Given the description of an element on the screen output the (x, y) to click on. 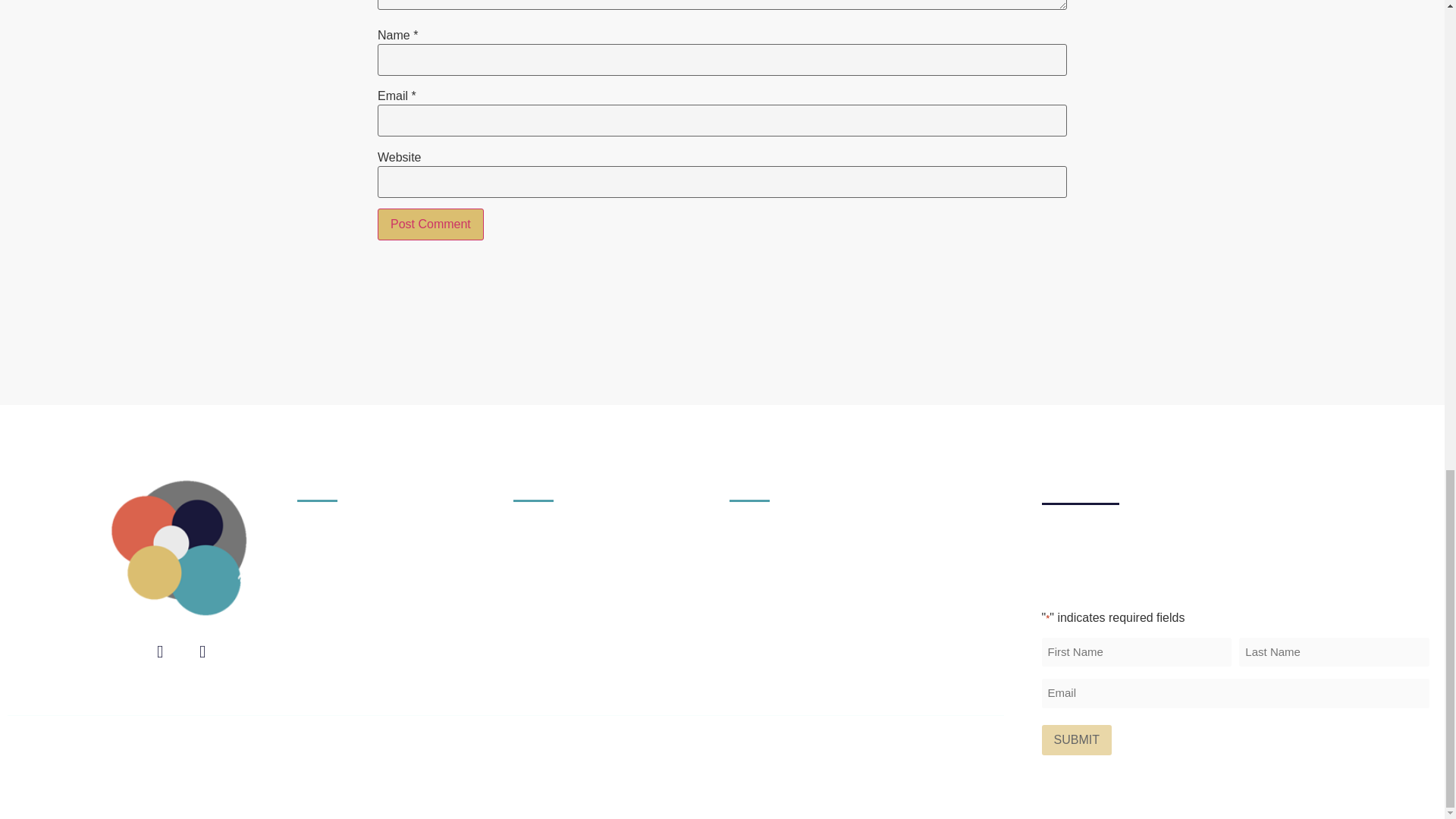
Post Comment (430, 224)
Submit (1077, 739)
